Given the description of an element on the screen output the (x, y) to click on. 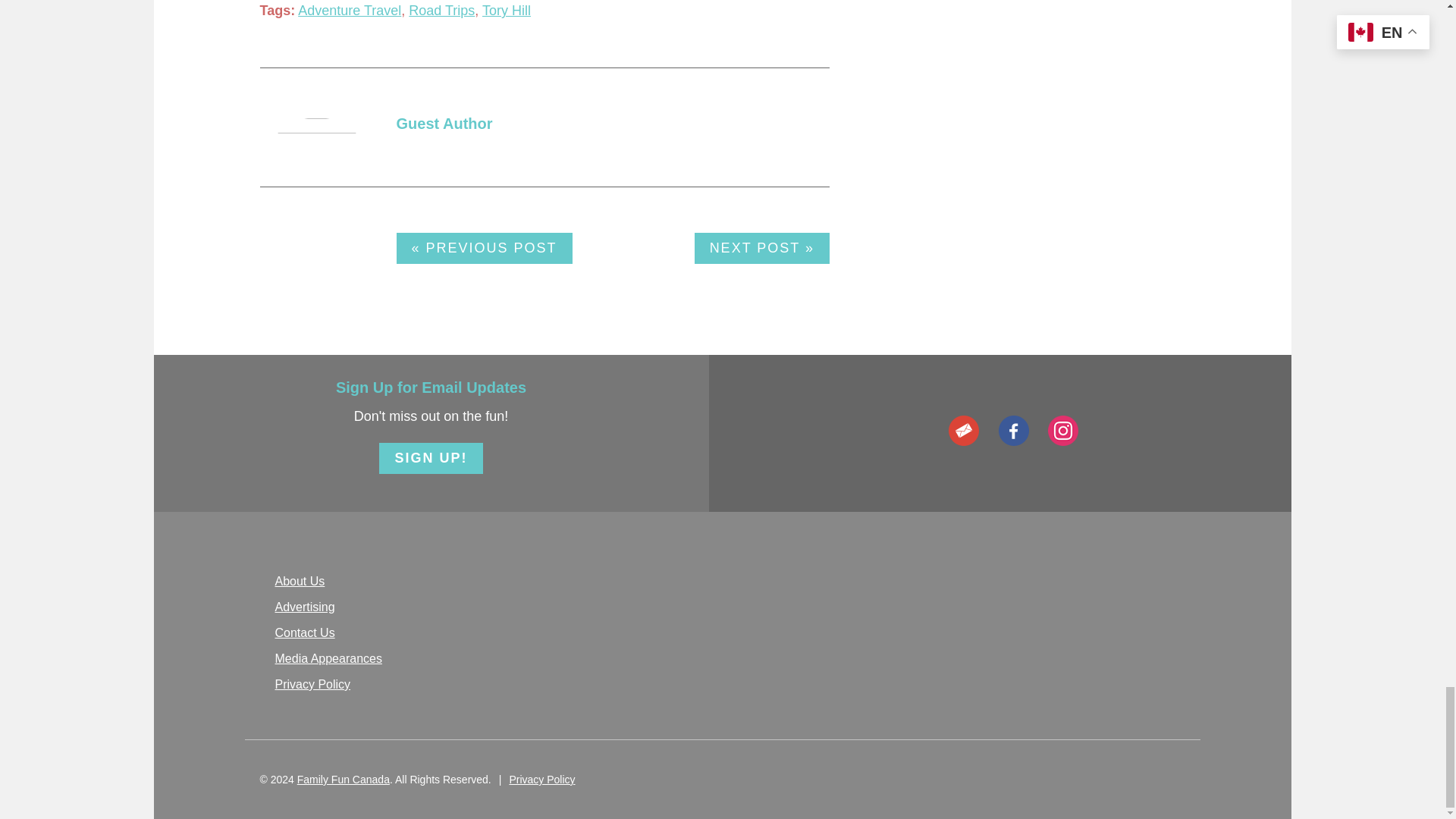
Facebook (1012, 430)
Instagram (1063, 430)
Posts by Guest Author (444, 123)
Email (963, 430)
